Given the description of an element on the screen output the (x, y) to click on. 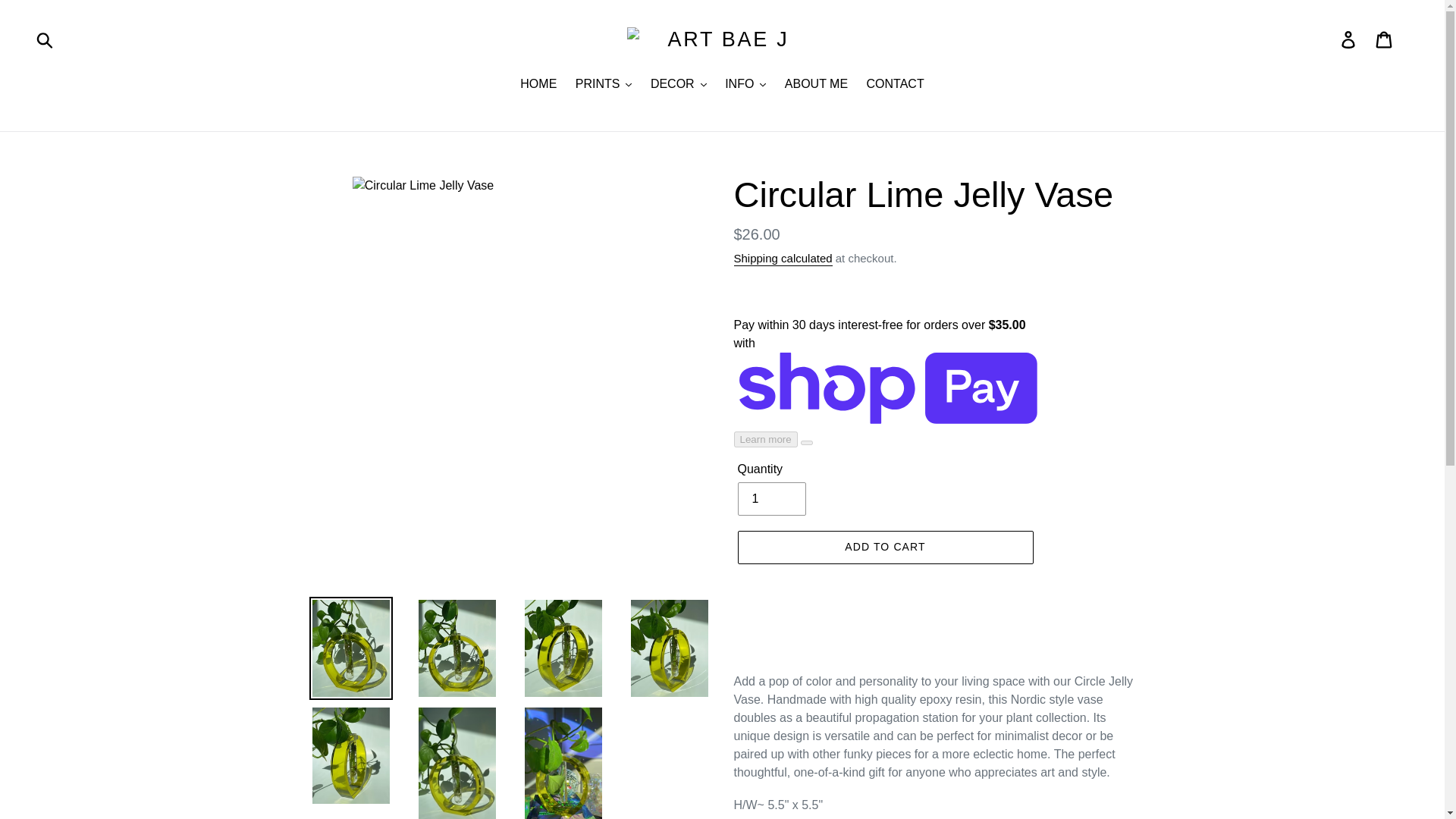
HOME (538, 85)
Submit (45, 39)
ABOUT ME (816, 85)
1 (770, 498)
Log in (1349, 39)
CONTACT (895, 85)
Cart (1385, 39)
